Given the description of an element on the screen output the (x, y) to click on. 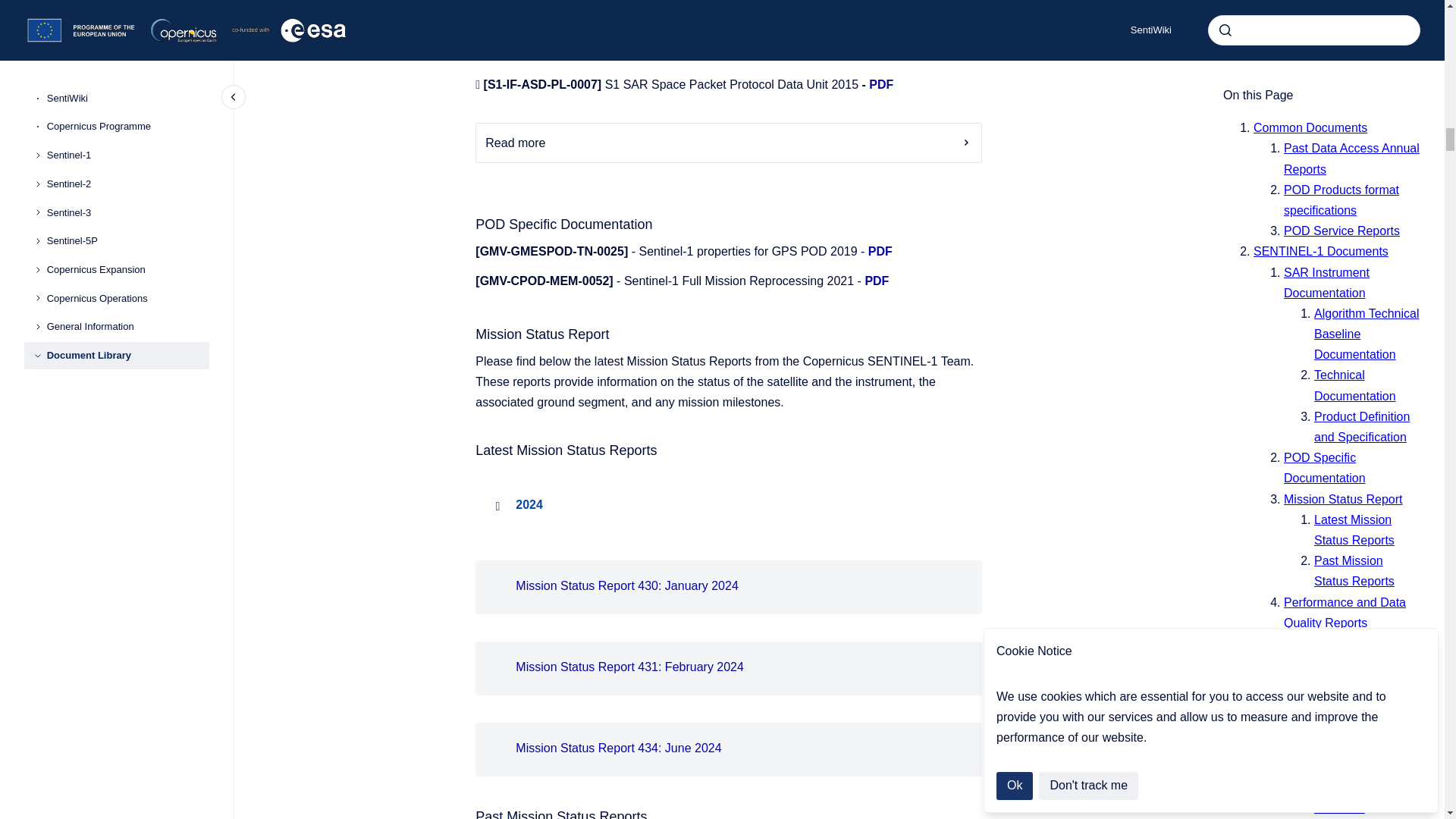
Copy to clipboard (468, 812)
